Given the description of an element on the screen output the (x, y) to click on. 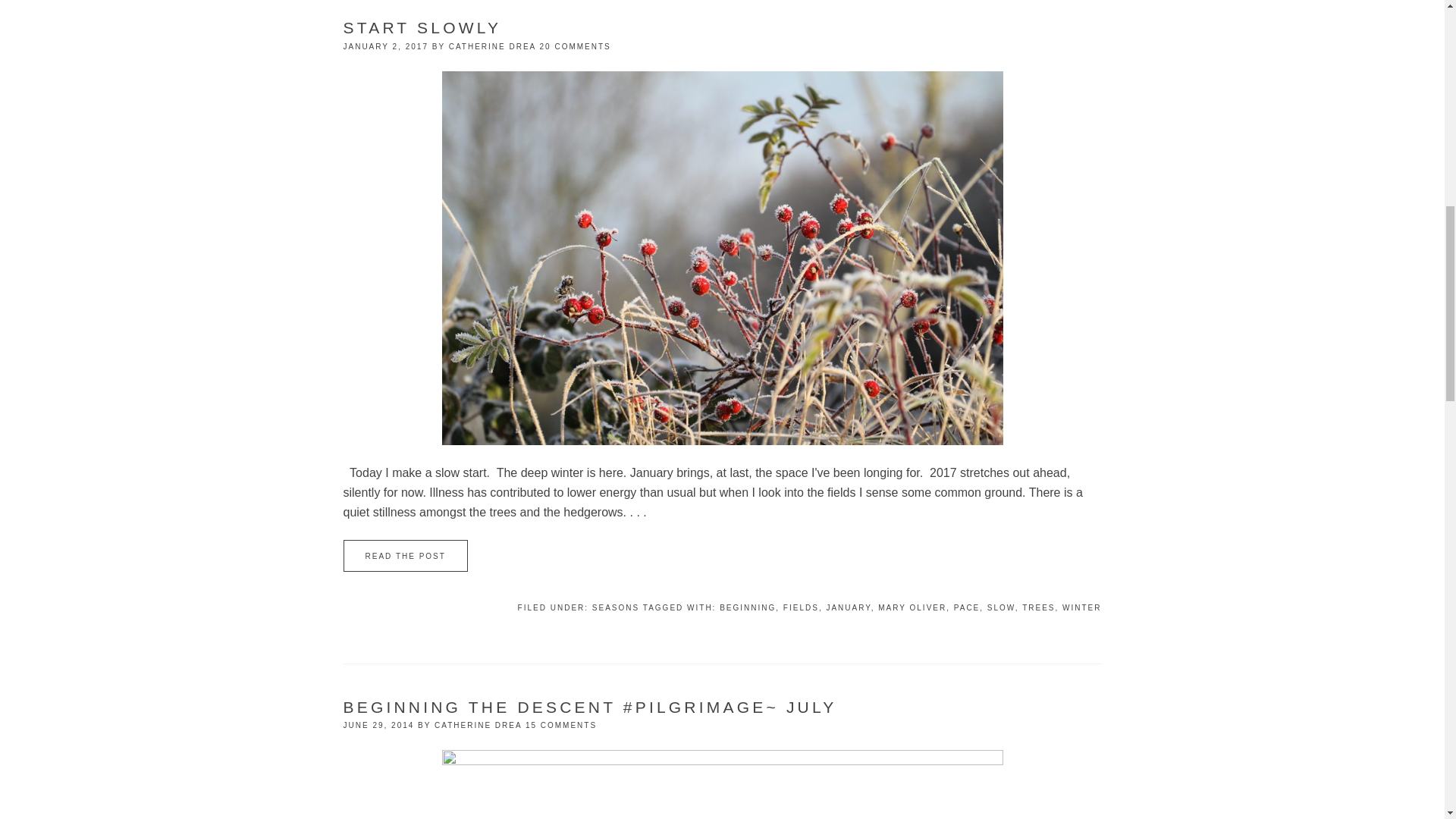
SEASONS (615, 607)
20 COMMENTS (575, 46)
PACE (966, 607)
JANUARY (847, 607)
MARY OLIVER (911, 607)
START SLOWLY (421, 27)
CATHERINE DREA (491, 46)
READ THE POST (404, 555)
BEGINNING (747, 607)
FIELDS (800, 607)
